Given the description of an element on the screen output the (x, y) to click on. 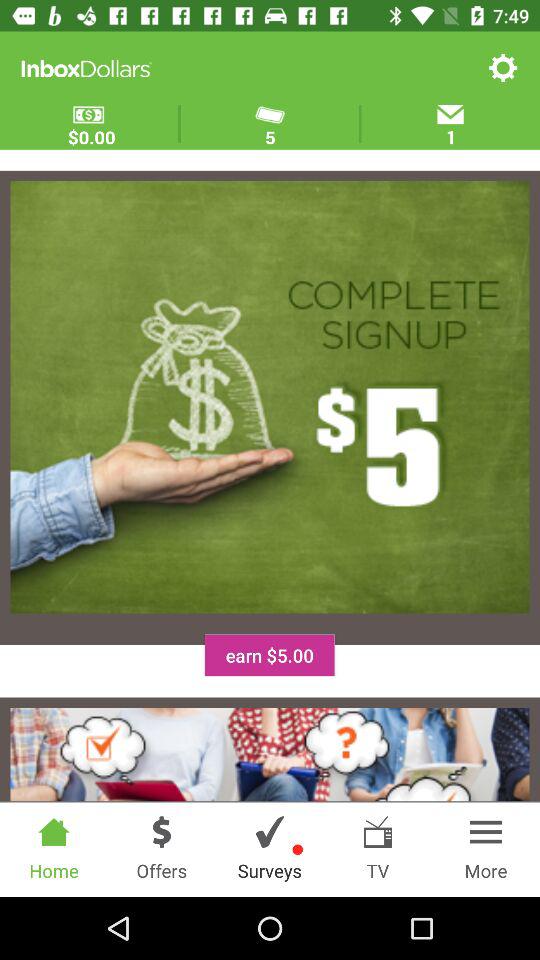
tap the earn $5.00 (269, 655)
